Given the description of an element on the screen output the (x, y) to click on. 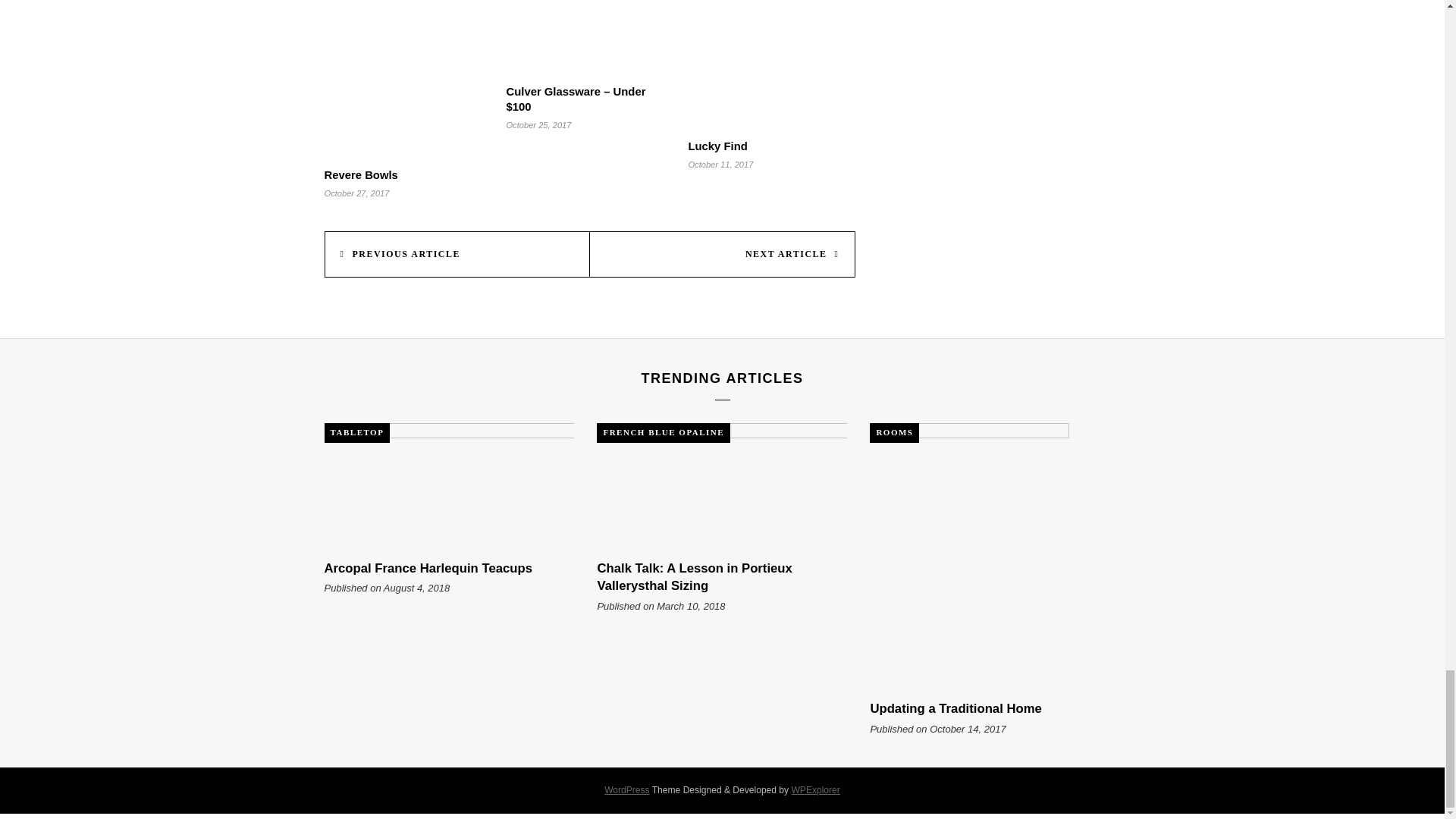
Revere Bowls (360, 174)
FRENCH BLUE OPALINE (663, 433)
PREVIOUS ARTICLE (456, 253)
Revere Bowls (360, 174)
Arcopal France Harlequin Teacups (428, 568)
NEXT ARTICLE (721, 253)
Chalk Talk: A Lesson in Portieux Vallerysthal Sizing (694, 576)
TABLETOP (357, 433)
Lucky Find (716, 146)
